Given the description of an element on the screen output the (x, y) to click on. 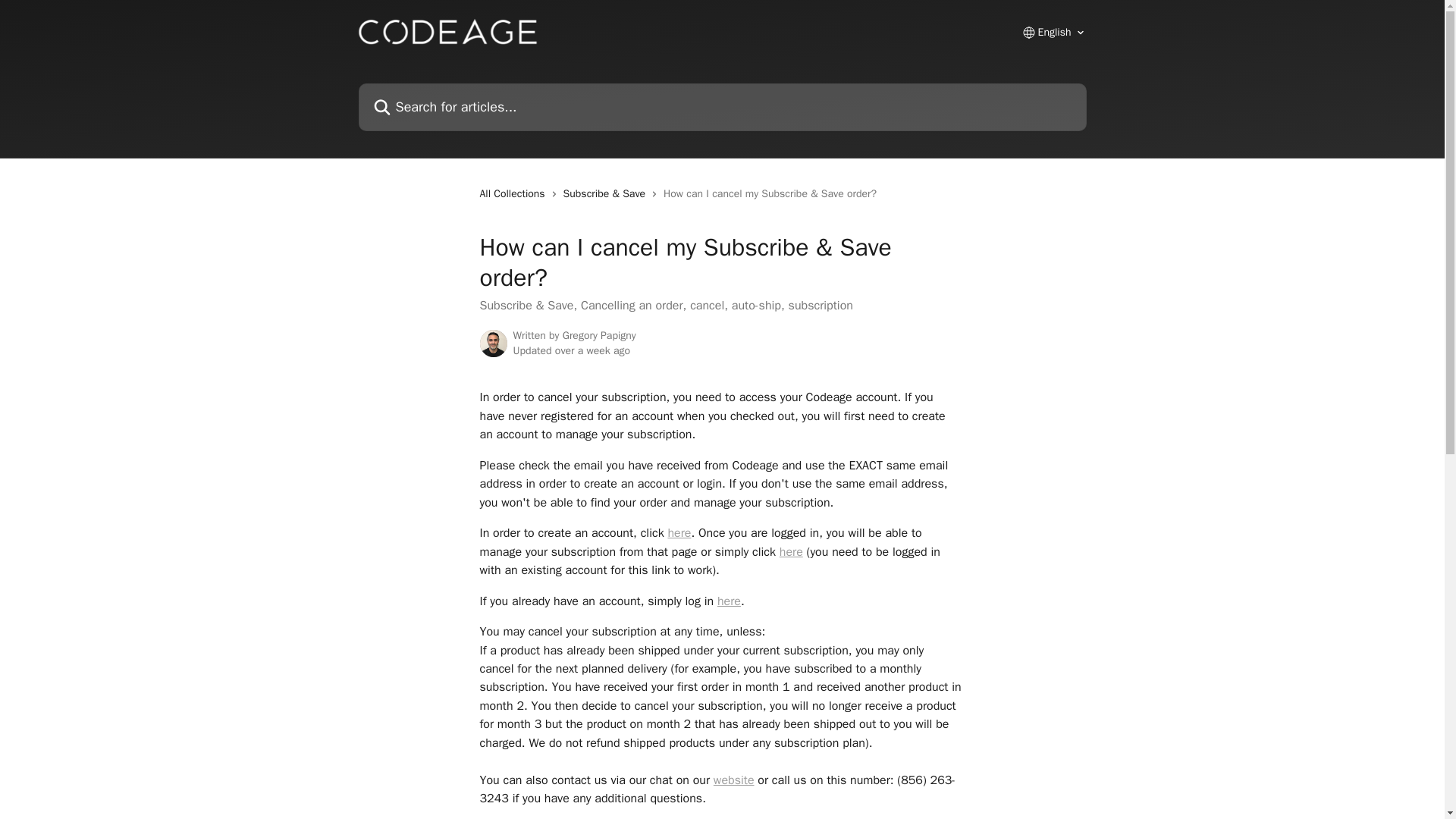
here (790, 551)
here (729, 601)
here (678, 532)
All Collections (514, 193)
website (733, 780)
